Given the description of an element on the screen output the (x, y) to click on. 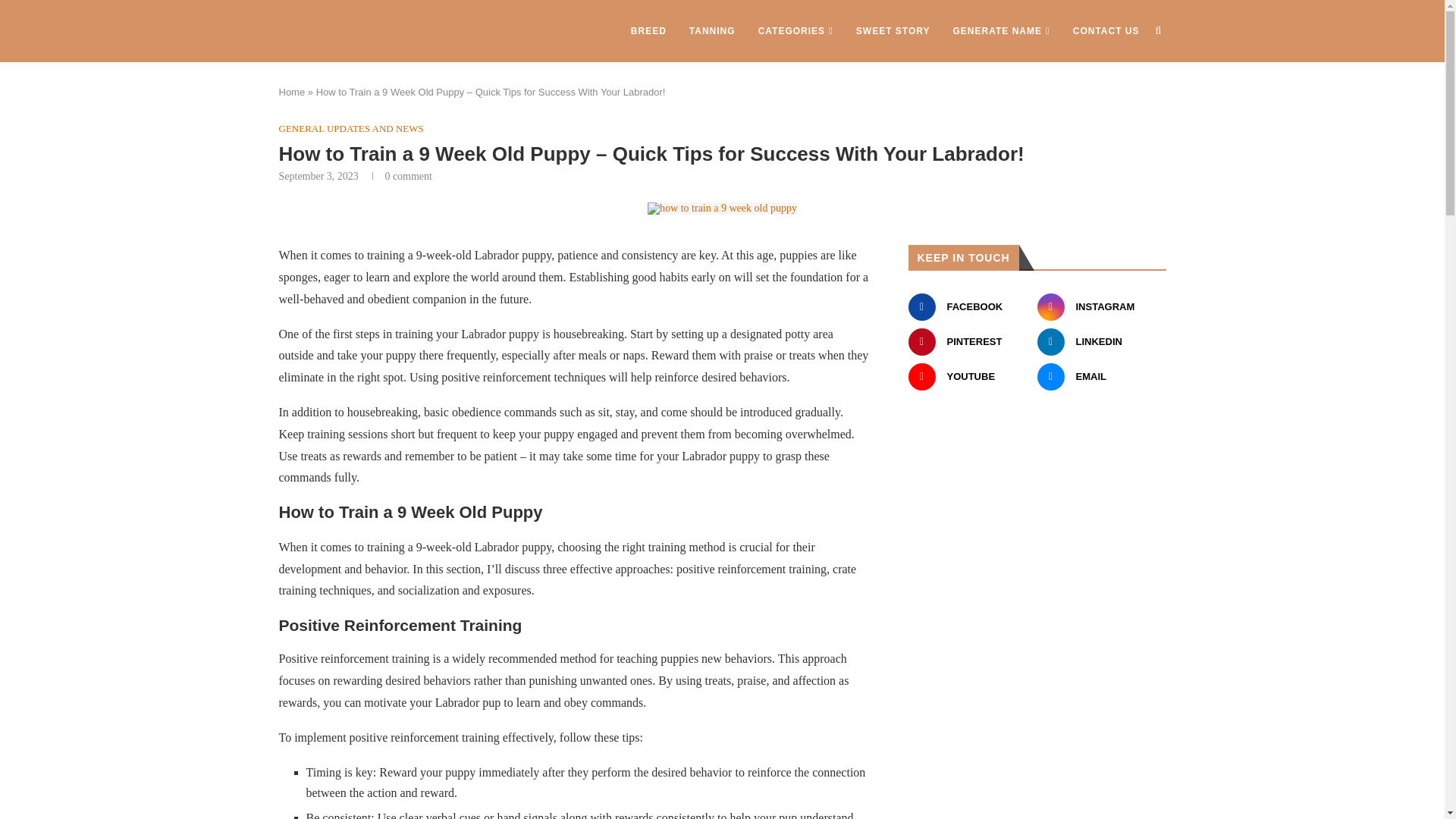
SWEET STORY (893, 30)
CONTACT US (1106, 30)
GENERATE NAME (1001, 30)
GENERAL UPDATES AND NEWS (351, 128)
how to train a 9 week old puppy (721, 208)
Home (292, 91)
CATEGORIES (795, 30)
